Given the description of an element on the screen output the (x, y) to click on. 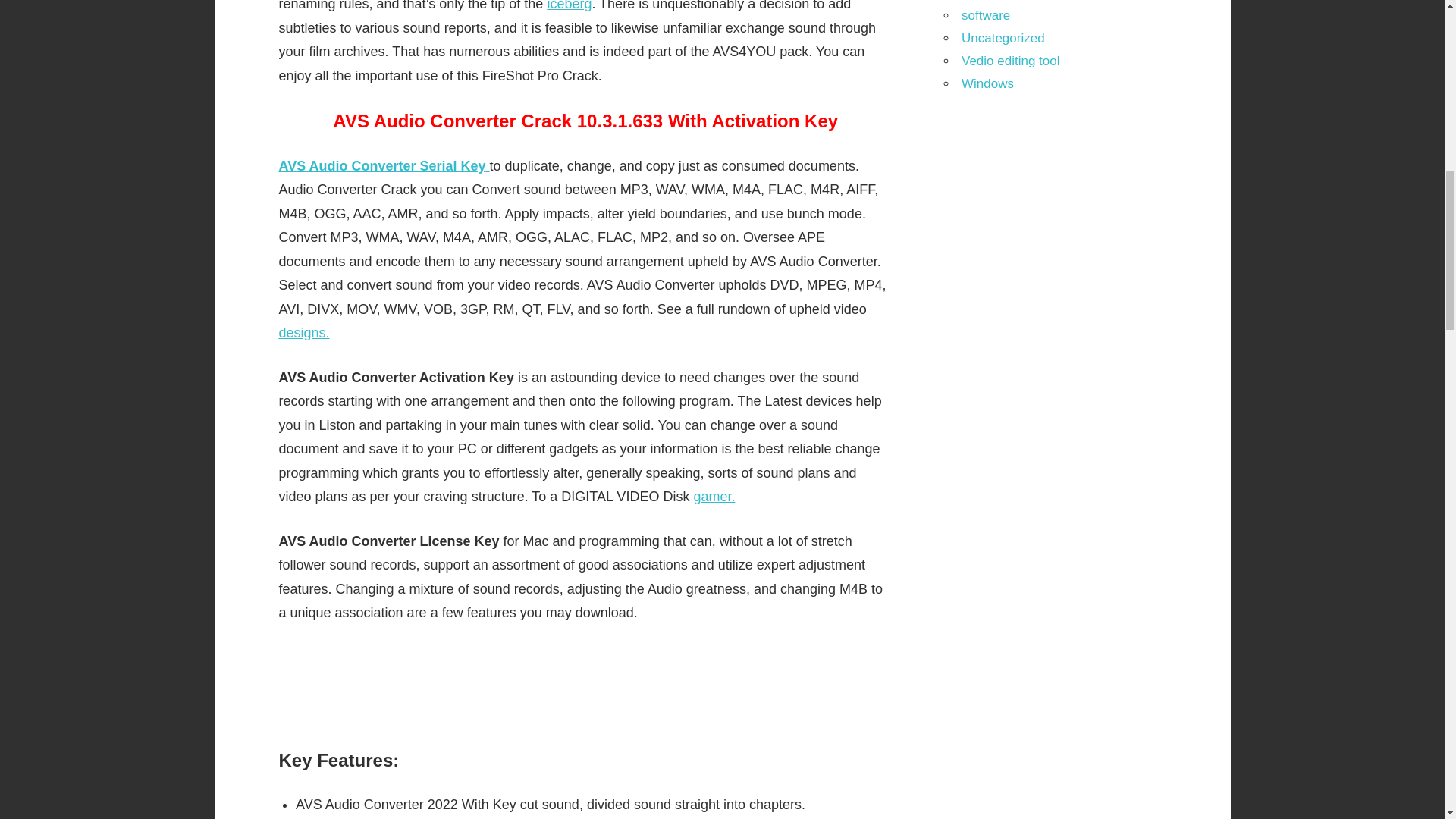
gamer. (714, 496)
AVS Audio Converter Serial Key  (384, 165)
designs. (304, 332)
iceberg (569, 5)
